Given the description of an element on the screen output the (x, y) to click on. 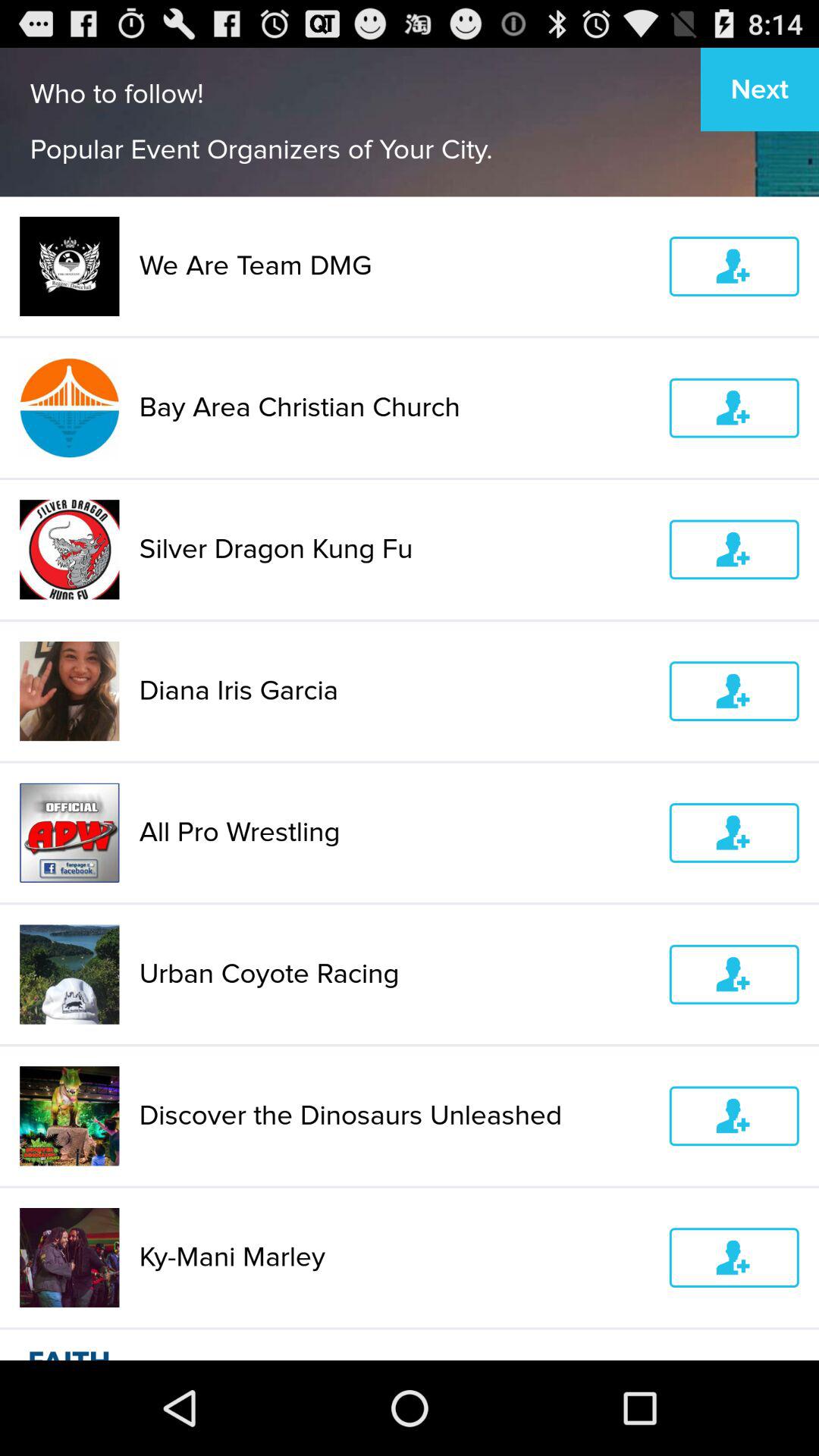
click the next button (759, 89)
